Given the description of an element on the screen output the (x, y) to click on. 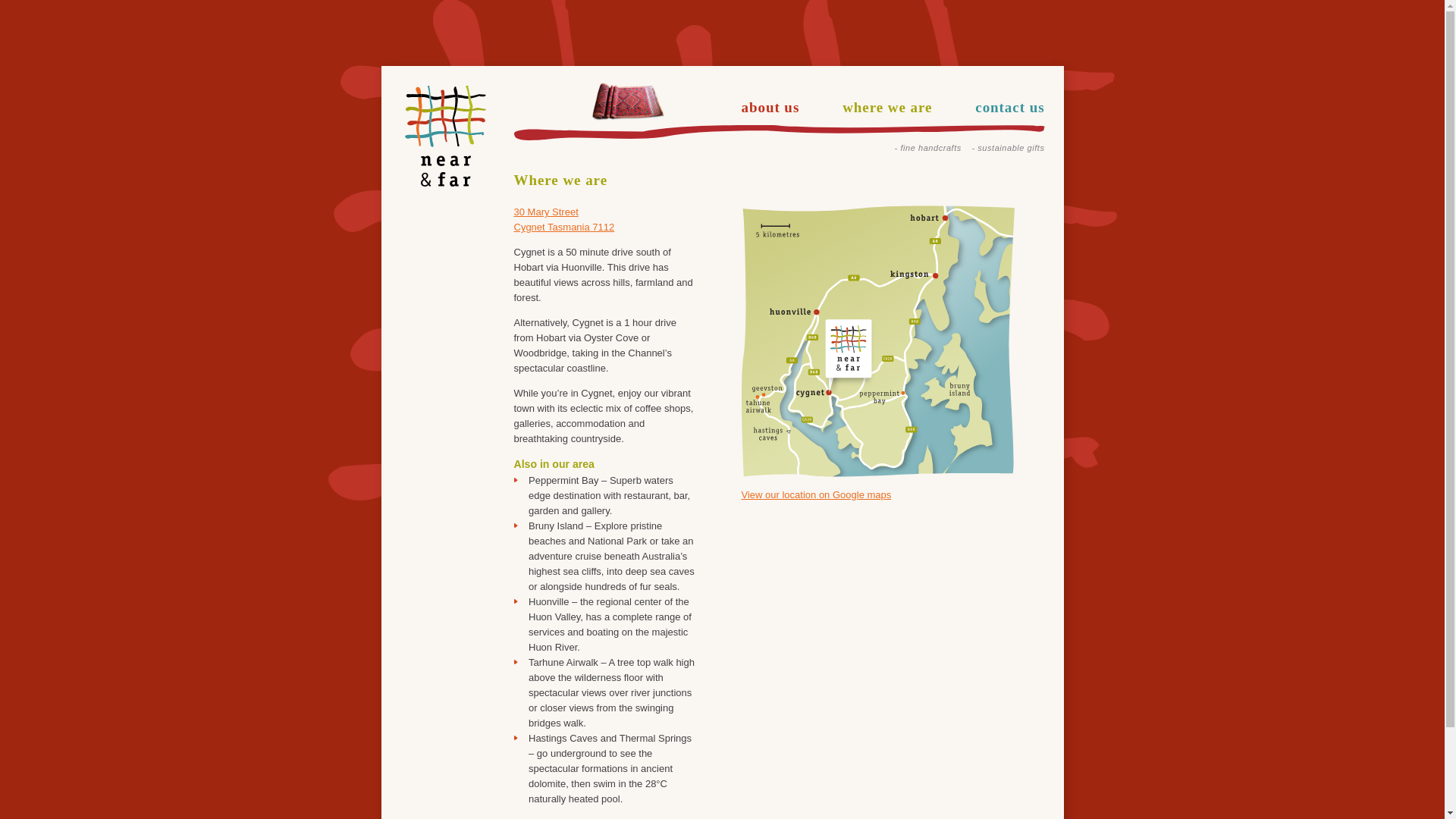
where we are Element type: text (886, 107)
View our location on Google maps Element type: text (816, 494)
contact us Element type: text (1009, 107)
about us Element type: text (770, 107)
30 Mary Street
Cygnet Tasmania 7112 Element type: text (564, 219)
